Given the description of an element on the screen output the (x, y) to click on. 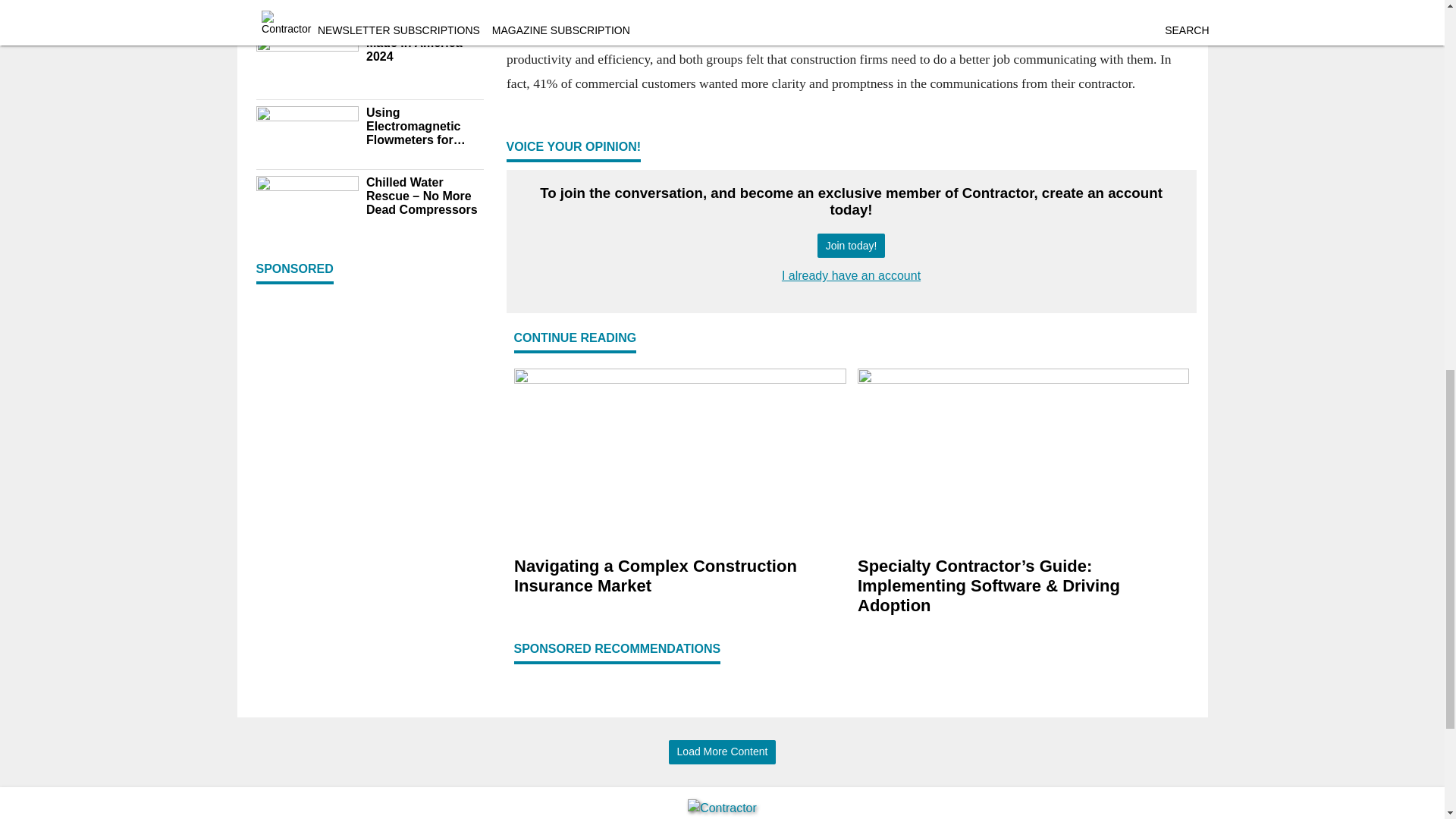
Join today! (850, 245)
I already have an account (850, 275)
Load More Content (722, 752)
Navigating a Complex Construction Insurance Market (679, 577)
Made in America 2024 (424, 49)
